Given the description of an element on the screen output the (x, y) to click on. 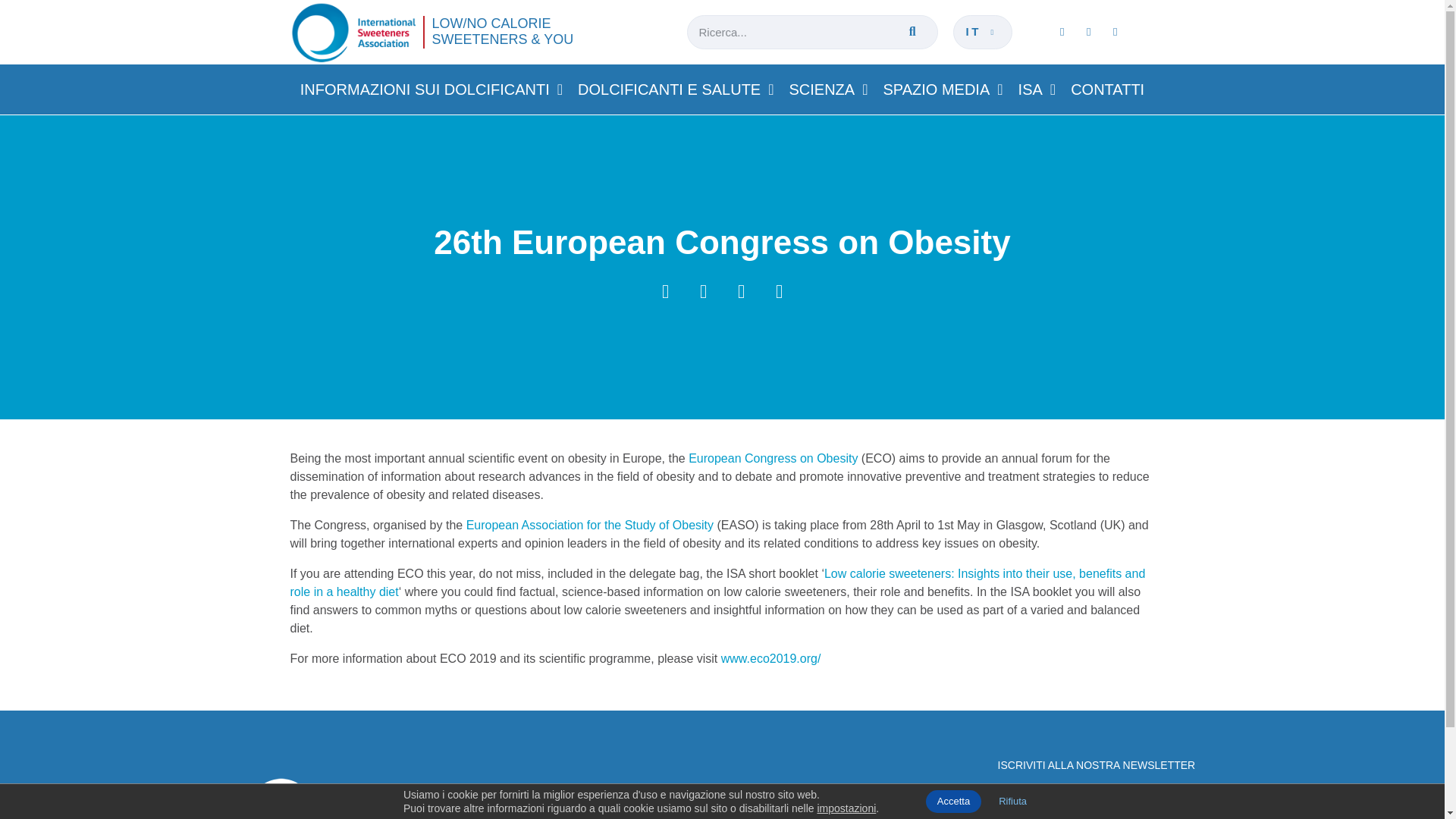
INFORMAZIONI SUI DOLCIFICANTI (430, 89)
IT (982, 32)
DOLCIFICANTI E SALUTE (675, 89)
SCIENZA (828, 89)
SPAZIO MEDIA (942, 89)
IT (982, 32)
